Given the description of an element on the screen output the (x, y) to click on. 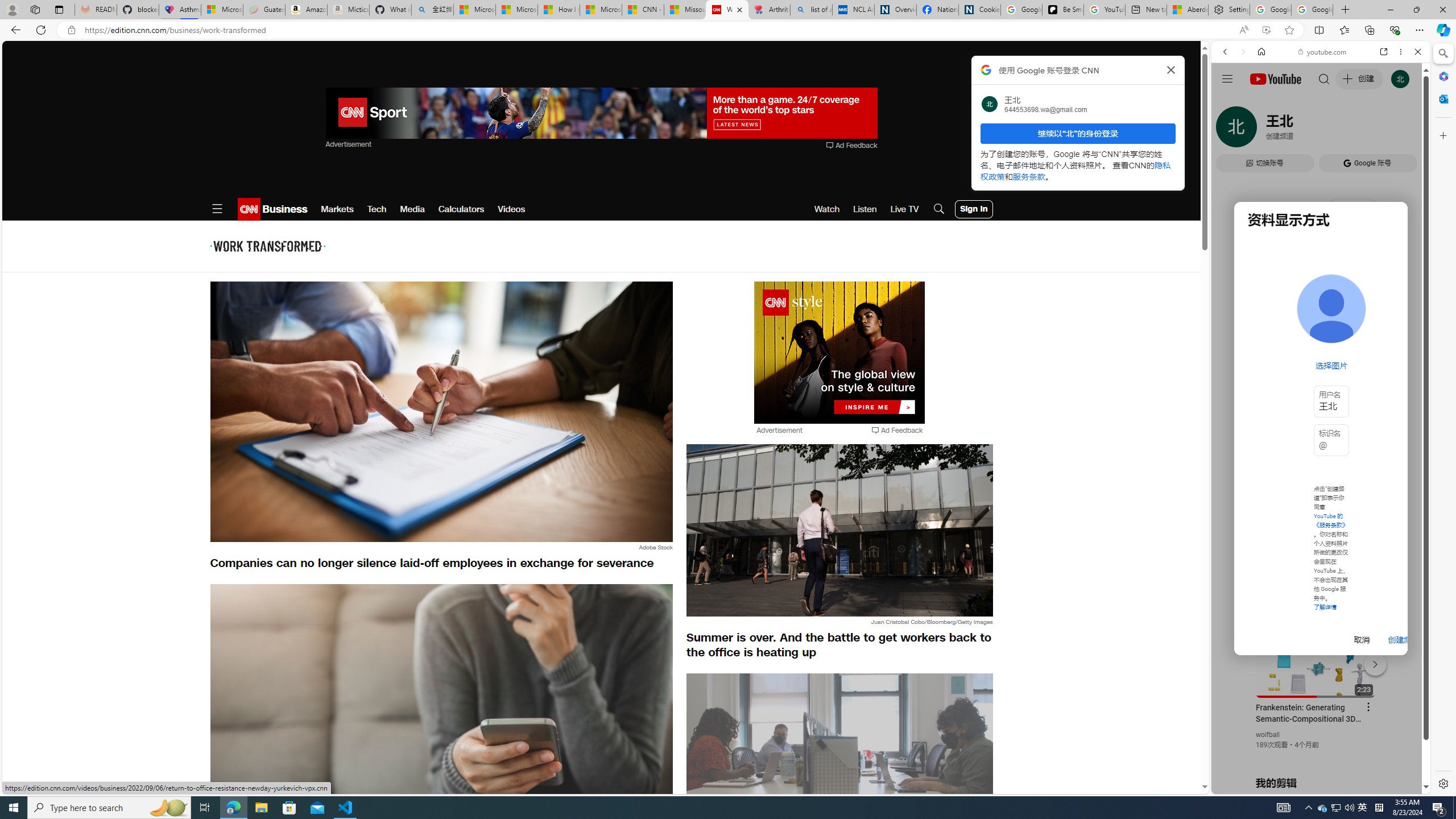
Google (1266, 331)
Tech (376, 209)
wolfball (1268, 734)
#you (1320, 253)
Cookies (979, 9)
Calculators (461, 209)
YouTube (1315, 655)
